Given the description of an element on the screen output the (x, y) to click on. 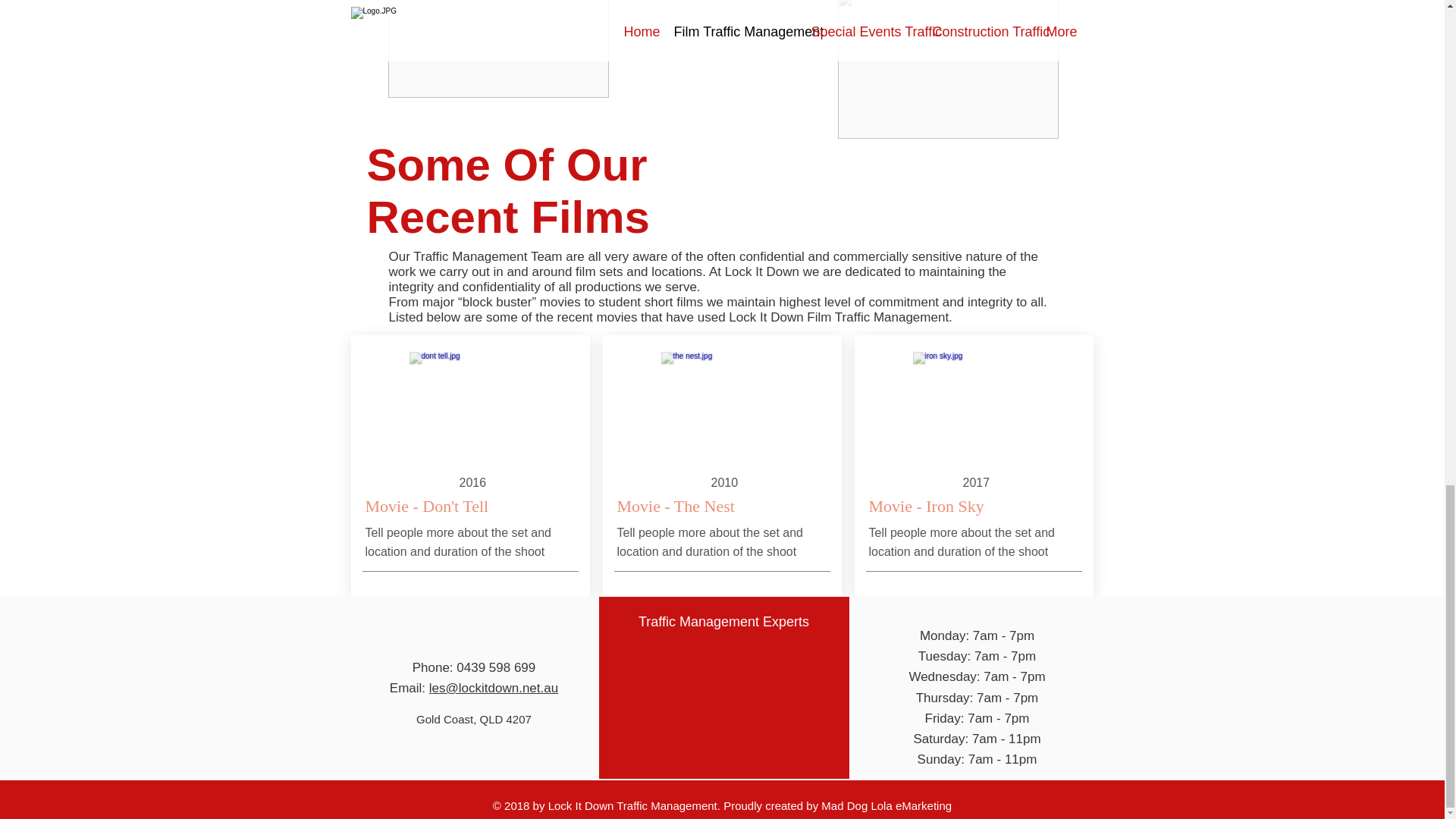
Tuesday: 7am - 7pm (976, 738)
Wednesday: 7am - 7pm (976, 656)
Monday: 7am - 7pm (976, 676)
Proudly created by Mad Dog Lola eMarketing (976, 635)
Thursday: 7am - 7pm (837, 805)
